Given the description of an element on the screen output the (x, y) to click on. 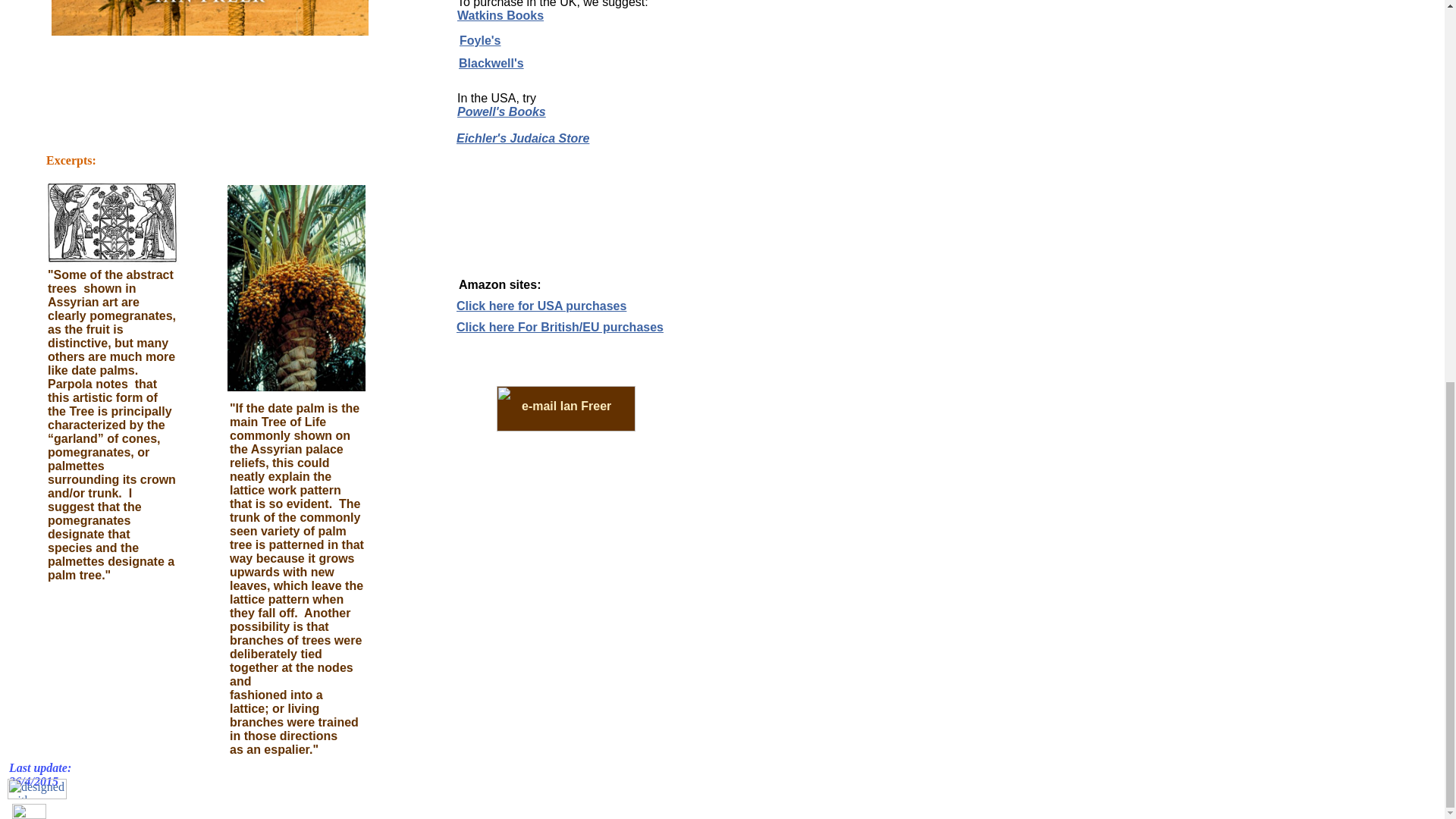
Powell's Books (501, 111)
Blackwell's (491, 62)
Click here for USA purchases (541, 305)
Foyle's (480, 40)
Eichler's Judaica Store (523, 137)
Watkins Books (500, 15)
